Given the description of an element on the screen output the (x, y) to click on. 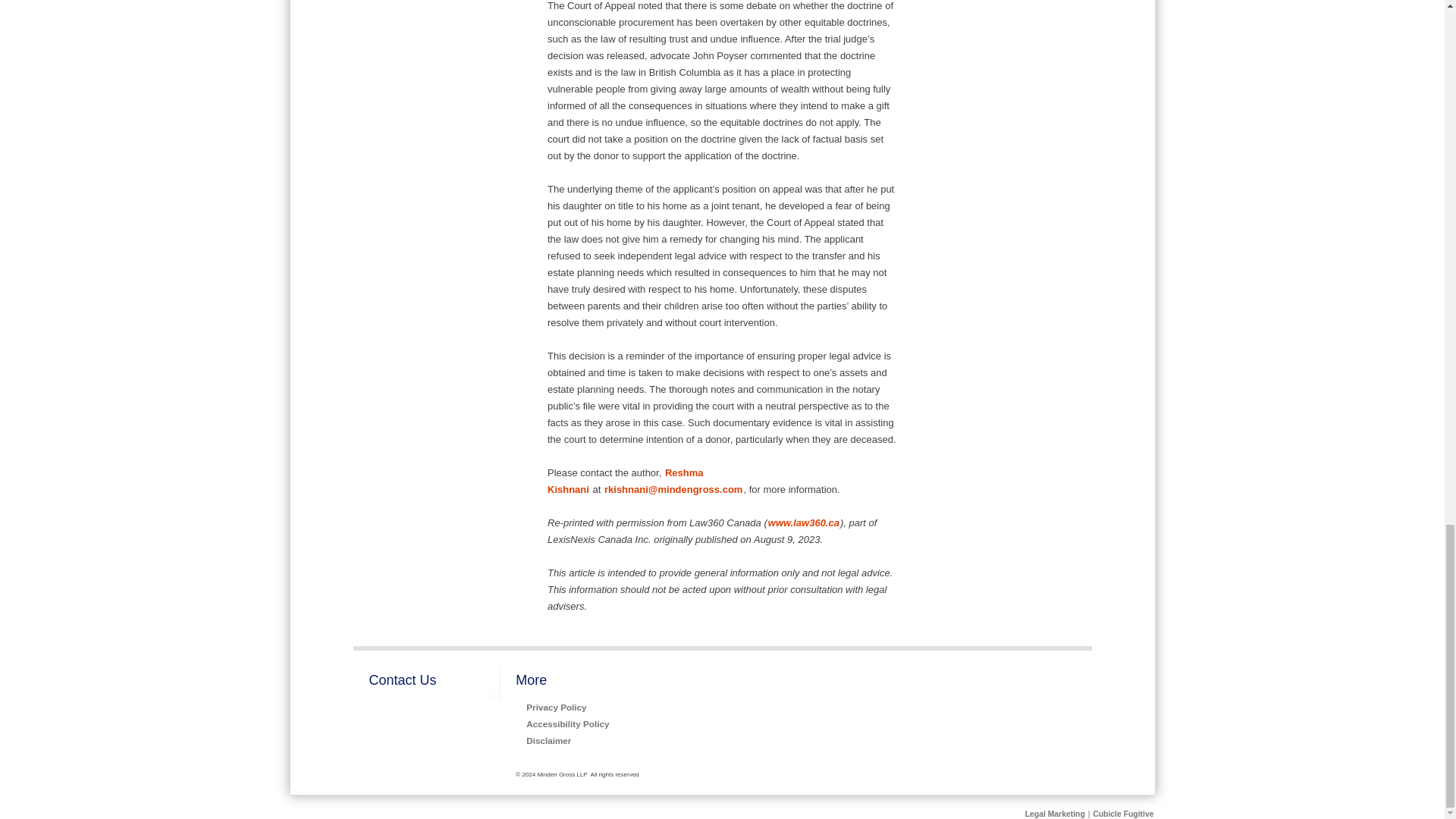
Reshma Kishnani (625, 481)
www.law360.ca (803, 522)
Reshma Kishnani (625, 481)
Reshma Kishnani's email (673, 489)
Law360 Canada (803, 522)
